Given the description of an element on the screen output the (x, y) to click on. 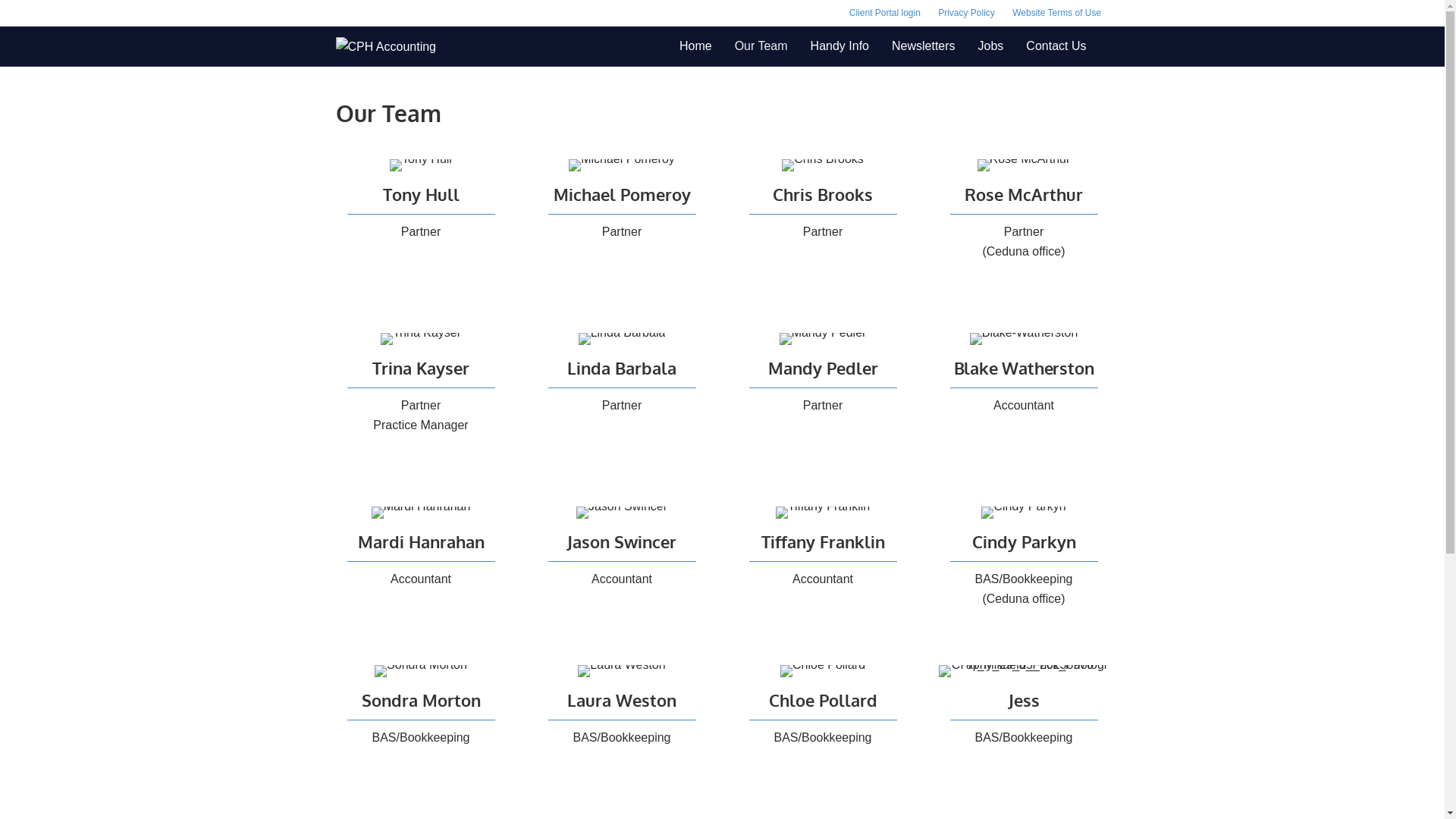
Mandy-Pedler Element type: hover (822, 338)
CPH_Mikaela_Frick_Photography_29_05_20238970 Element type: hover (1023, 671)
Jason-Swincer Element type: hover (621, 512)
Sondra-Morton Element type: hover (420, 671)
Newsletters Element type: text (923, 45)
Privacy Policy Element type: text (966, 12)
Home Element type: text (695, 45)
Jobs Element type: text (990, 45)
Website Terms of Use Element type: text (1056, 12)
Blake-Watherston Element type: hover (1023, 338)
Handy Info Element type: text (839, 45)
Cindy-Parkyn Element type: hover (1023, 512)
Contact Us Element type: text (1055, 45)
Client Portal login Element type: text (884, 12)
Trina-Kayser Element type: hover (420, 338)
Tony-Hull Element type: hover (420, 165)
Rose-McArthur Element type: hover (1023, 165)
Linda-Barbala Element type: hover (621, 338)
Our Team Element type: text (761, 45)
Michael-Pomeroy Element type: hover (621, 165)
Mardi-Hanrahan Element type: hover (420, 512)
Tiffany-Franklin Element type: hover (822, 512)
Chris-Brooks Element type: hover (822, 165)
Chloe-Pollard Element type: hover (822, 671)
Laura-Weston Element type: hover (621, 671)
